Given the description of an element on the screen output the (x, y) to click on. 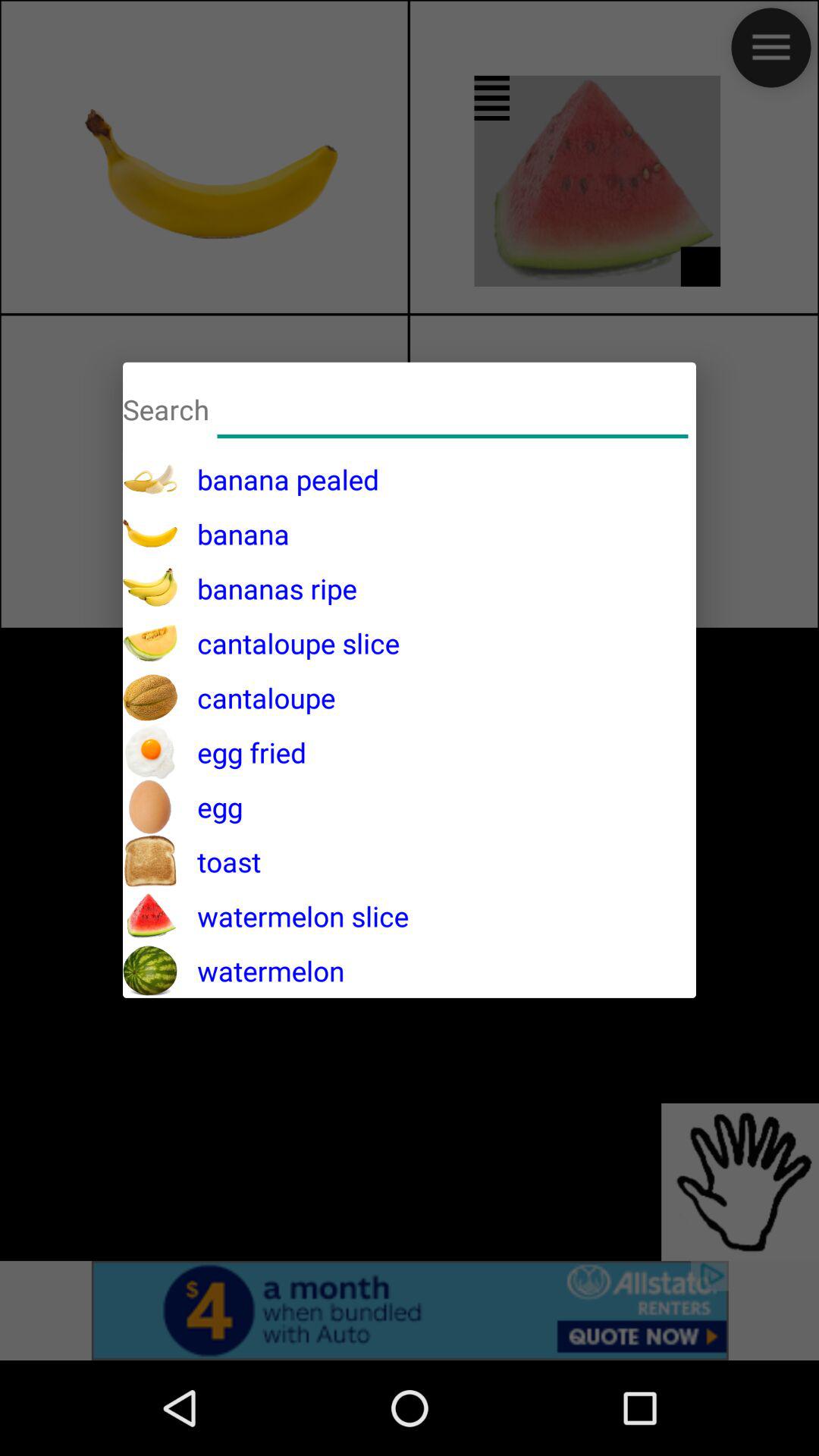
scroll to watermelon slice (292, 916)
